Given the description of an element on the screen output the (x, y) to click on. 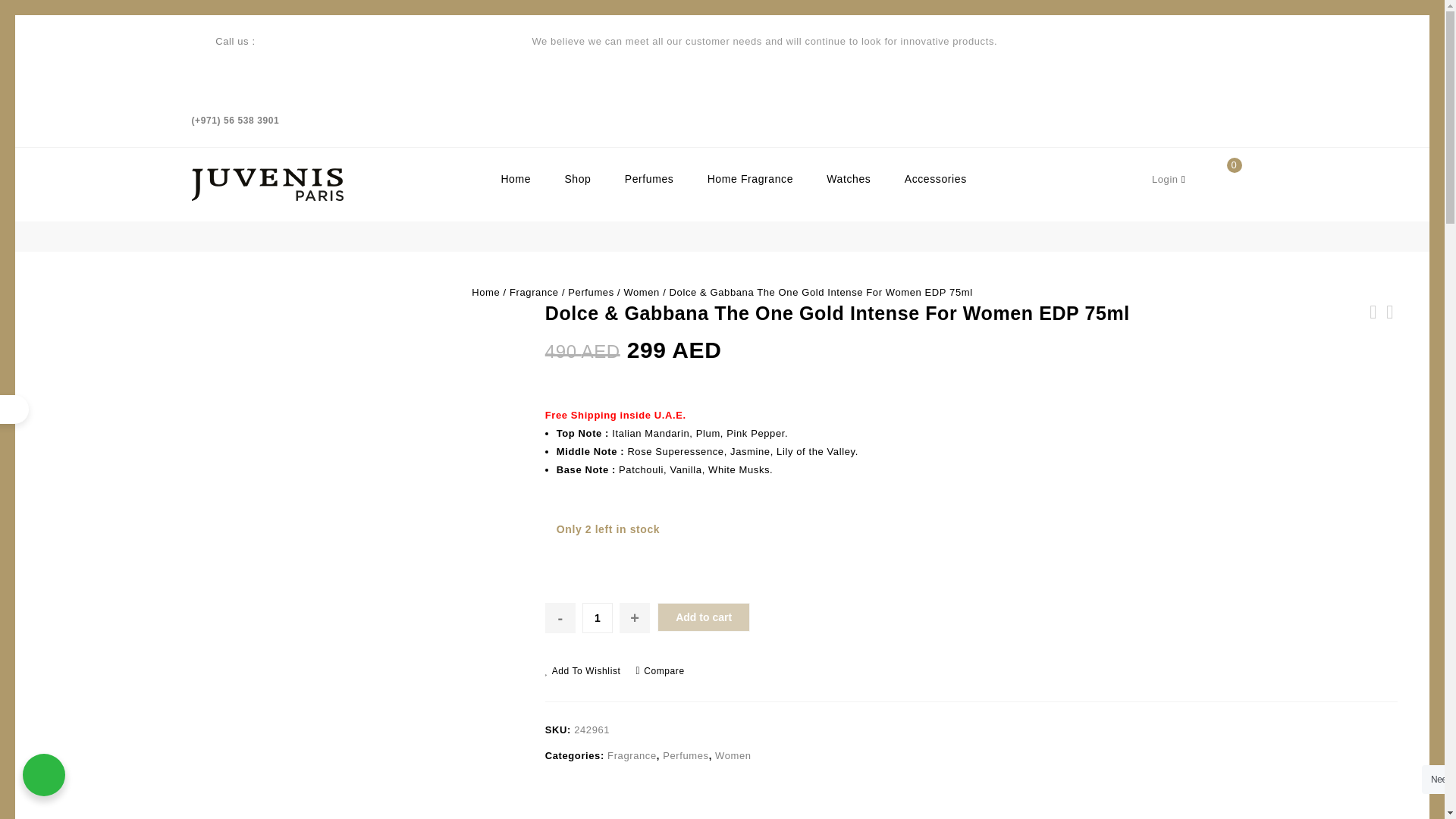
Home (515, 178)
Accessories (935, 178)
View your shopping cart (1229, 189)
Shop (576, 178)
Qty (597, 617)
Watches (847, 178)
JuvenisParis (266, 184)
Home Fragrance (750, 178)
Perfumes (649, 178)
1 (597, 617)
